Given the description of an element on the screen output the (x, y) to click on. 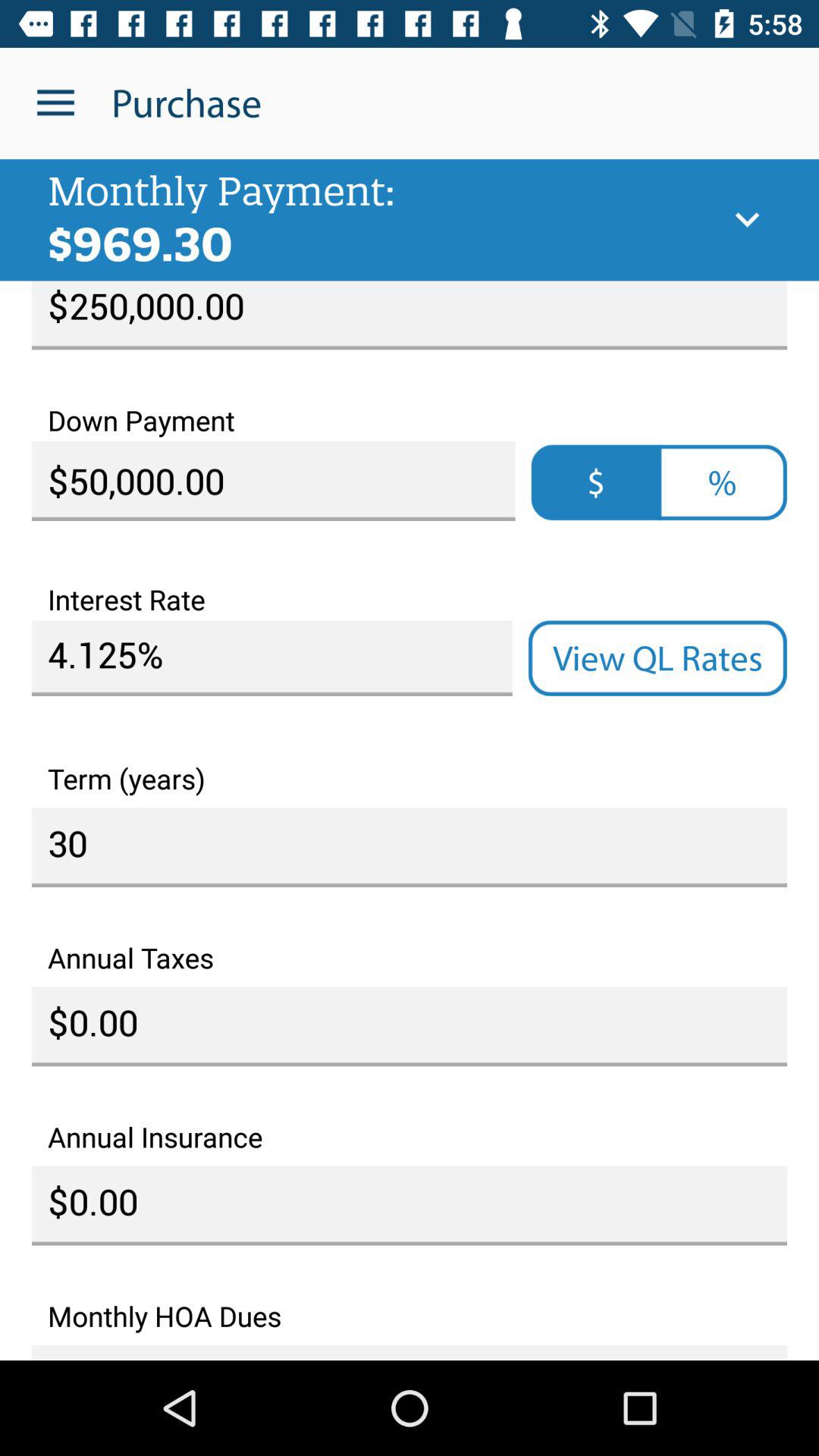
tap the icon to the right of the $50,000.00 icon (722, 482)
